Given the description of an element on the screen output the (x, y) to click on. 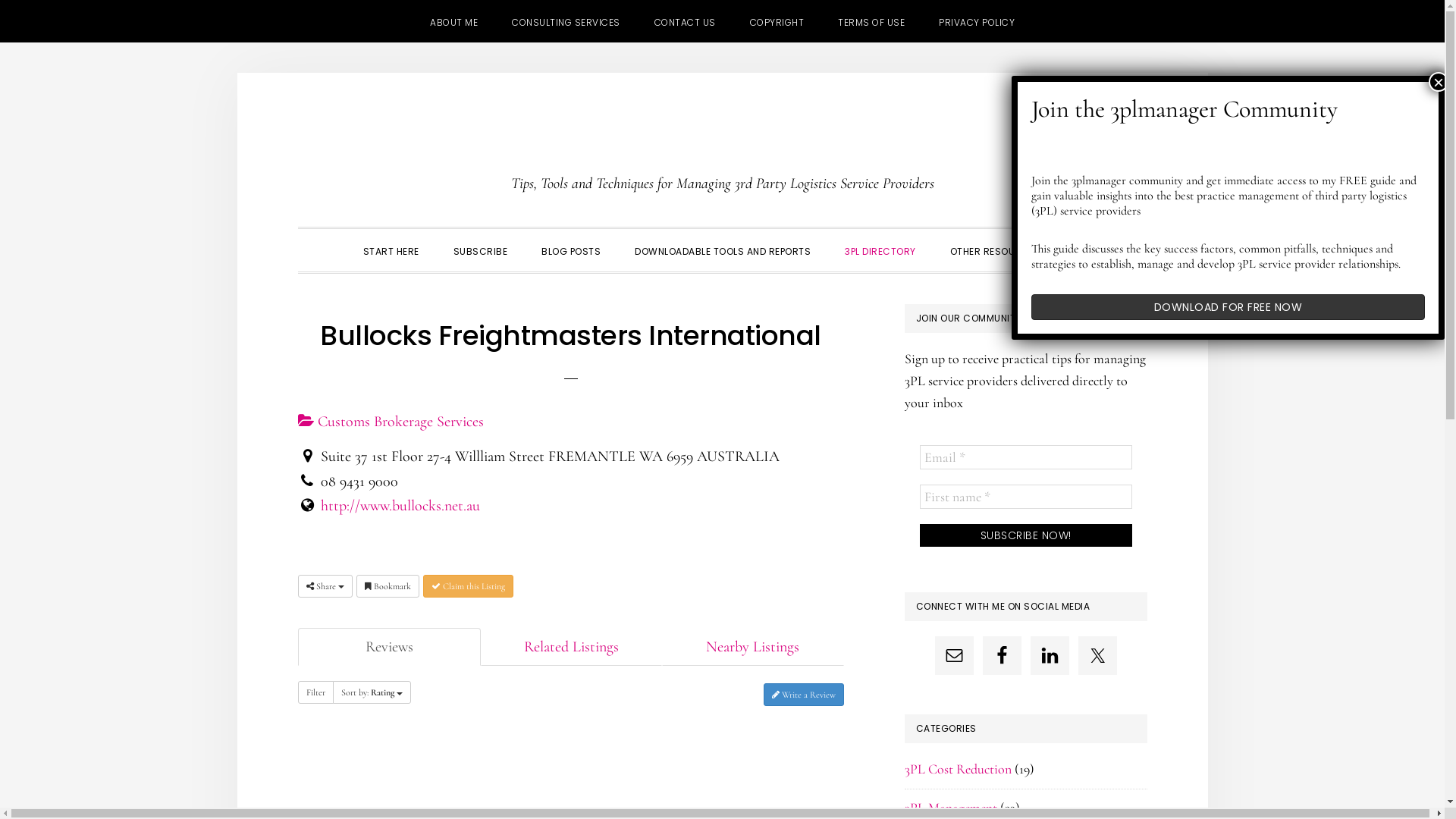
Skip to primary navigation Element type: text (297, 72)
Claim this Listing Element type: text (468, 585)
3PLMANAGER Element type: text (721, 140)
ABOUT ME Element type: text (453, 21)
http://www.bullocks.net.au Element type: text (400, 505)
3PL Management Element type: text (949, 807)
COPYRIGHT Element type: text (776, 21)
Customs Brokerage Services Element type: text (390, 421)
Write a Review Element type: text (802, 694)
First name Element type: hover (1025, 496)
SHOW SEARCH Element type: text (1078, 250)
Email Element type: hover (1025, 457)
CONTACT US Element type: text (684, 21)
DOWNLOADABLE TOOLS AND REPORTS Element type: text (722, 250)
Nearby Listings Element type: text (752, 646)
Filter Element type: text (314, 691)
BLOG POSTS Element type: text (570, 250)
3PL Cost Reduction Element type: text (956, 768)
DOWNLOAD FOR FREE NOW Element type: text (1228, 307)
PRIVACY POLICY Element type: text (976, 21)
Sort by: Rating Element type: text (371, 691)
OTHER RESOURCES Element type: text (994, 250)
Related Listings Element type: text (571, 646)
SUBSCRIBE Element type: text (480, 250)
CONSULTING SERVICES Element type: text (565, 21)
3PL DIRECTORY Element type: text (880, 250)
Share Element type: text (324, 585)
TERMS OF USE Element type: text (870, 21)
Bookmark Element type: text (387, 585)
START HERE Element type: text (390, 250)
Reviews Element type: text (388, 646)
Subscribe Now! Element type: text (1025, 535)
